Given the description of an element on the screen output the (x, y) to click on. 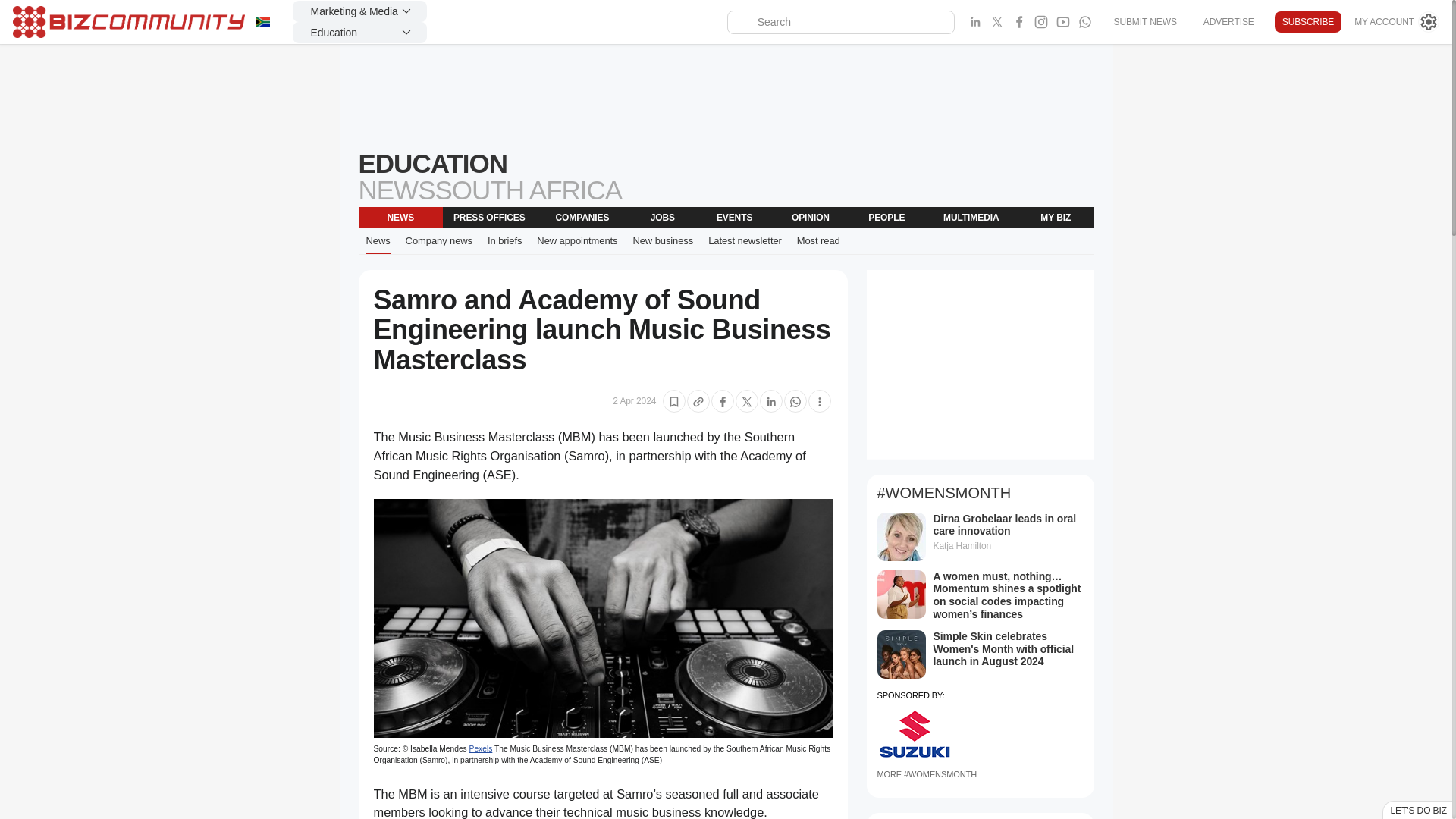
Bizcommunity instagram (1040, 22)
Bizcommunity facebook (1018, 22)
SUBSCRIBE (1307, 21)
Bizcommunity youtube (1062, 22)
Bizcommunity linked (975, 22)
Bizcommunity facebook (1084, 22)
ADVERTISE (1228, 21)
MY ACCOUNT (1396, 21)
SUBMIT NEWS (1144, 21)
Education (359, 32)
